Given the description of an element on the screen output the (x, y) to click on. 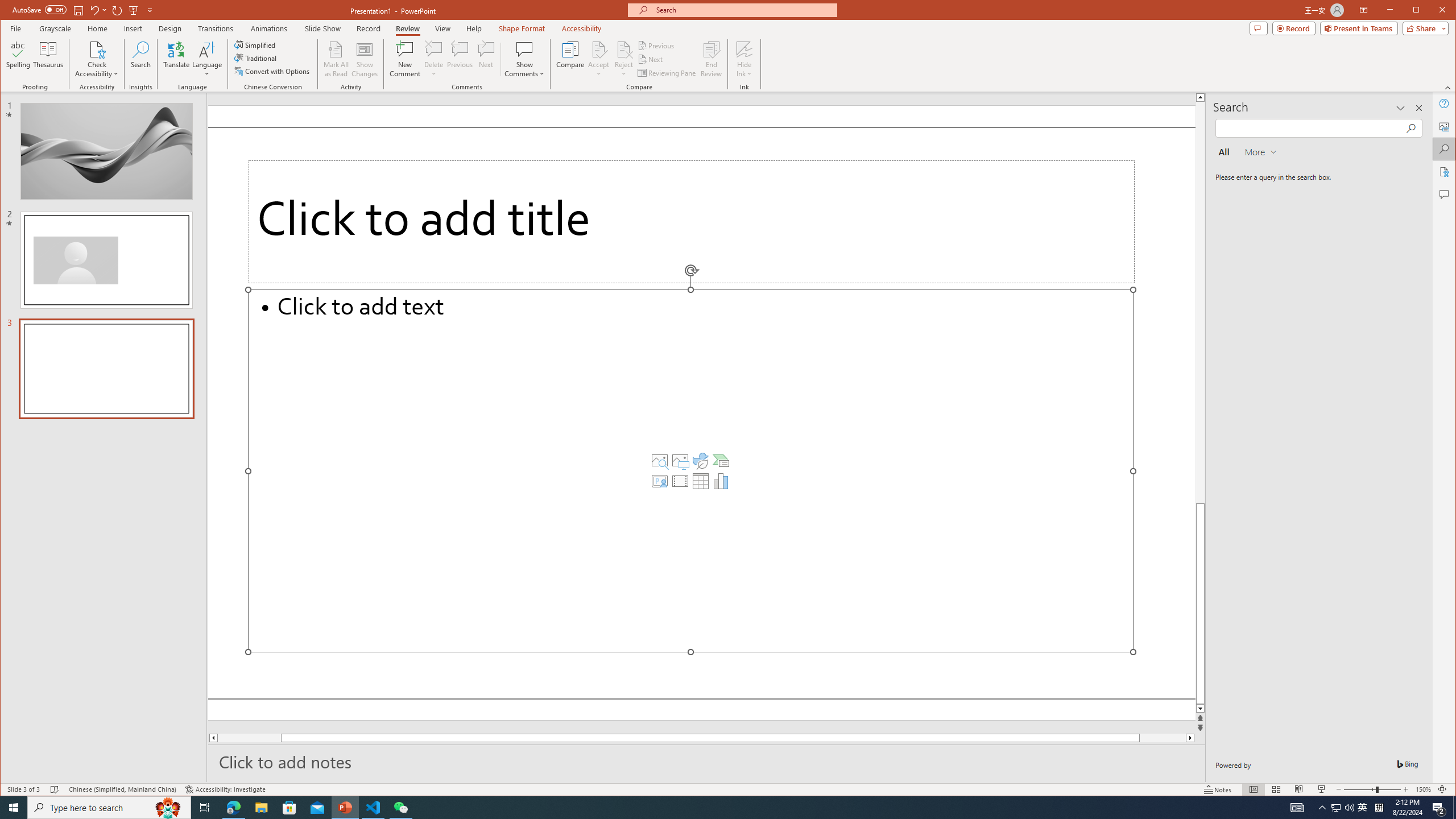
Content Placeholder (690, 470)
